Given the description of an element on the screen output the (x, y) to click on. 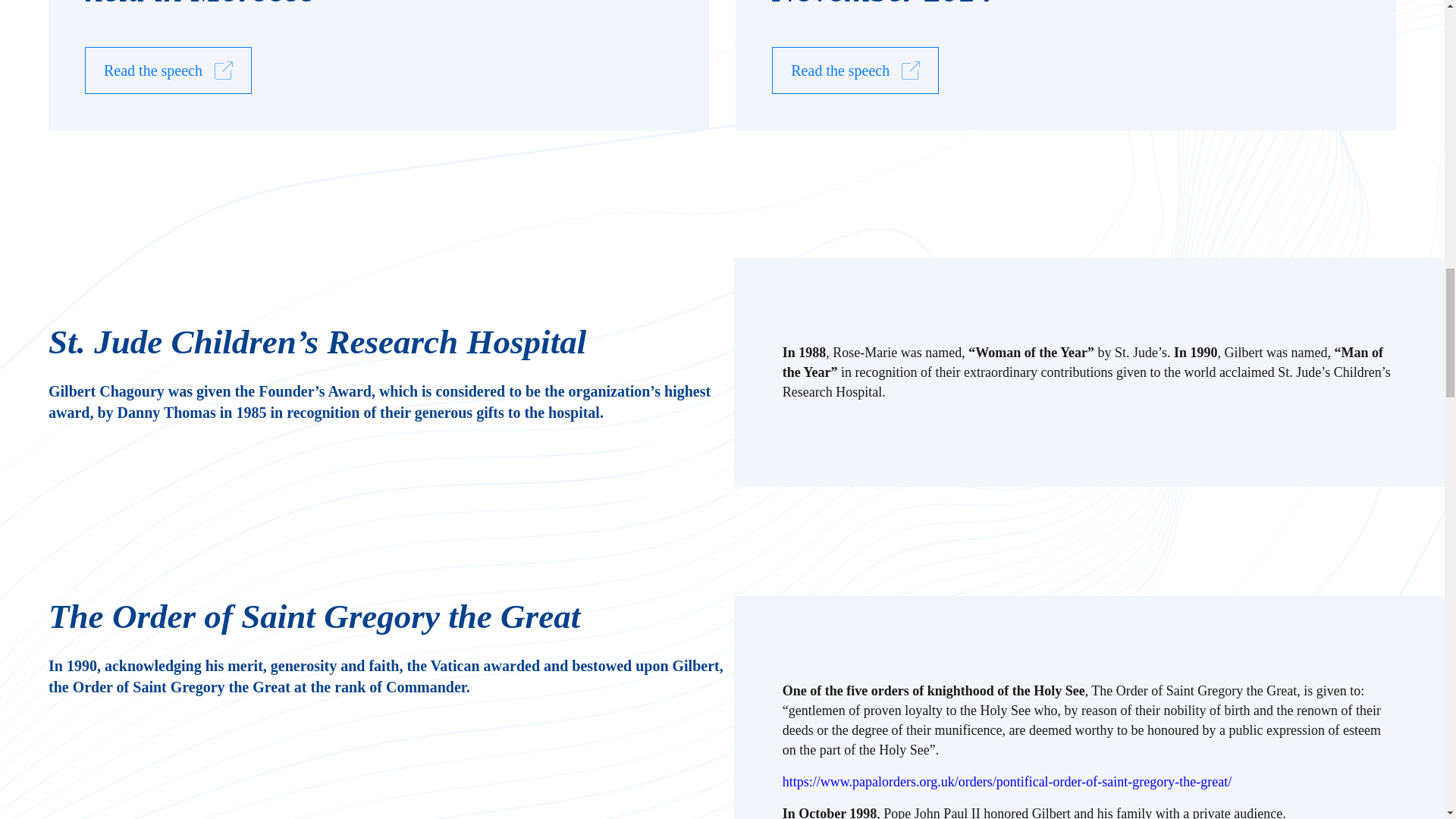
Read the speech (855, 70)
Read the speech (167, 70)
